Given the description of an element on the screen output the (x, y) to click on. 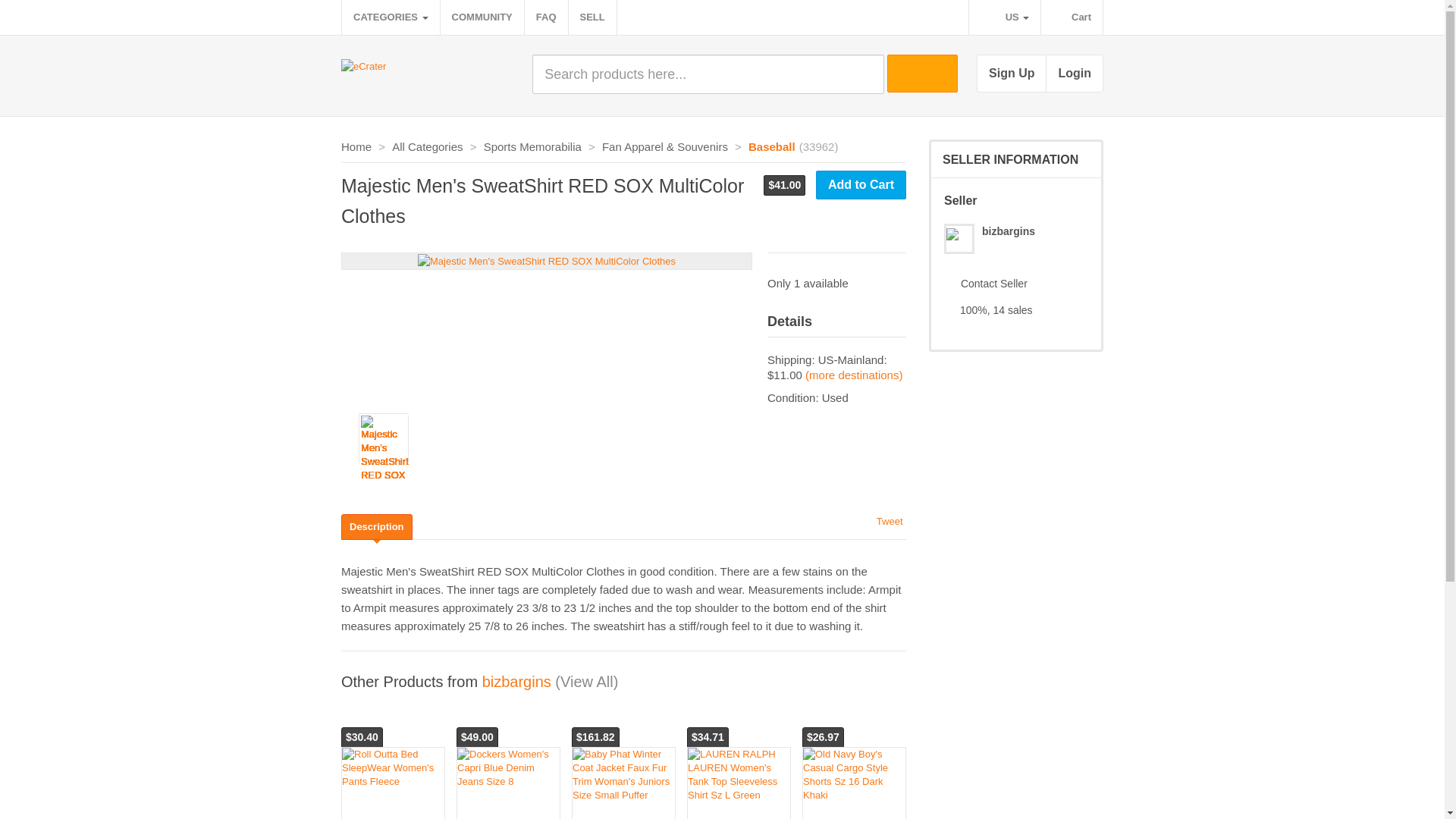
FAQ (545, 17)
CATEGORIES (390, 17)
Roll Outta Bed SleepWear Women's Pants Fleece (393, 767)
COMMUNITY (482, 17)
Old Navy Boy's Casual Cargo Style Shorts Sz 16 Dark Khaki (854, 774)
SELL (592, 17)
US (1005, 17)
Dockers Women's Capri Blue Denim Jeans Size 8 (508, 767)
